Given the description of an element on the screen output the (x, y) to click on. 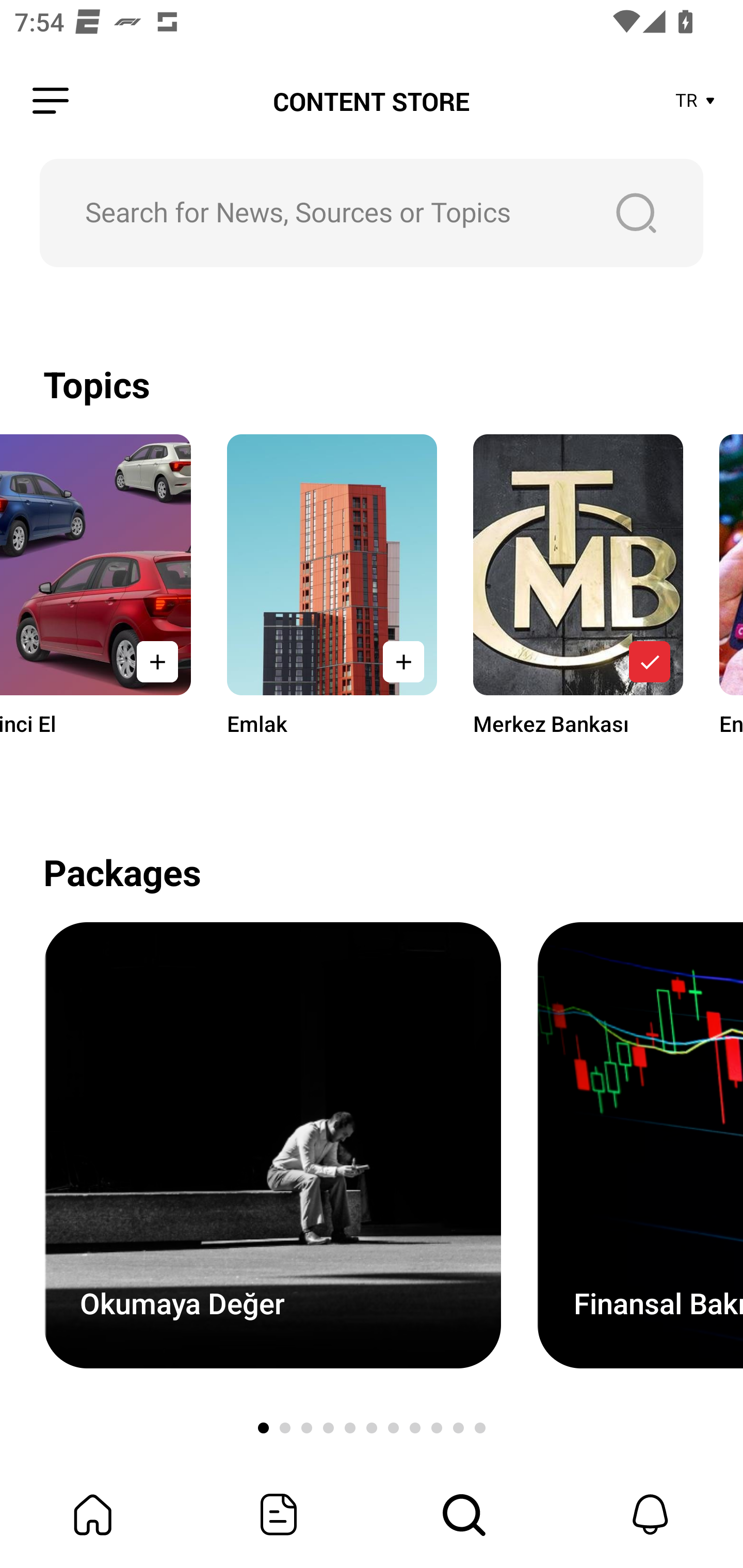
Leading Icon (50, 101)
TR Store Area (695, 101)
Search for News, Sources or Topics Search Button (371, 212)
Add To My Bundle (156, 661)
Add To My Bundle (403, 661)
Add To My Bundle (649, 661)
Content Store Discover Card Image Okumaya Değer (271, 1144)
My Bundle (92, 1514)
Featured (278, 1514)
Notifications (650, 1514)
